Given the description of an element on the screen output the (x, y) to click on. 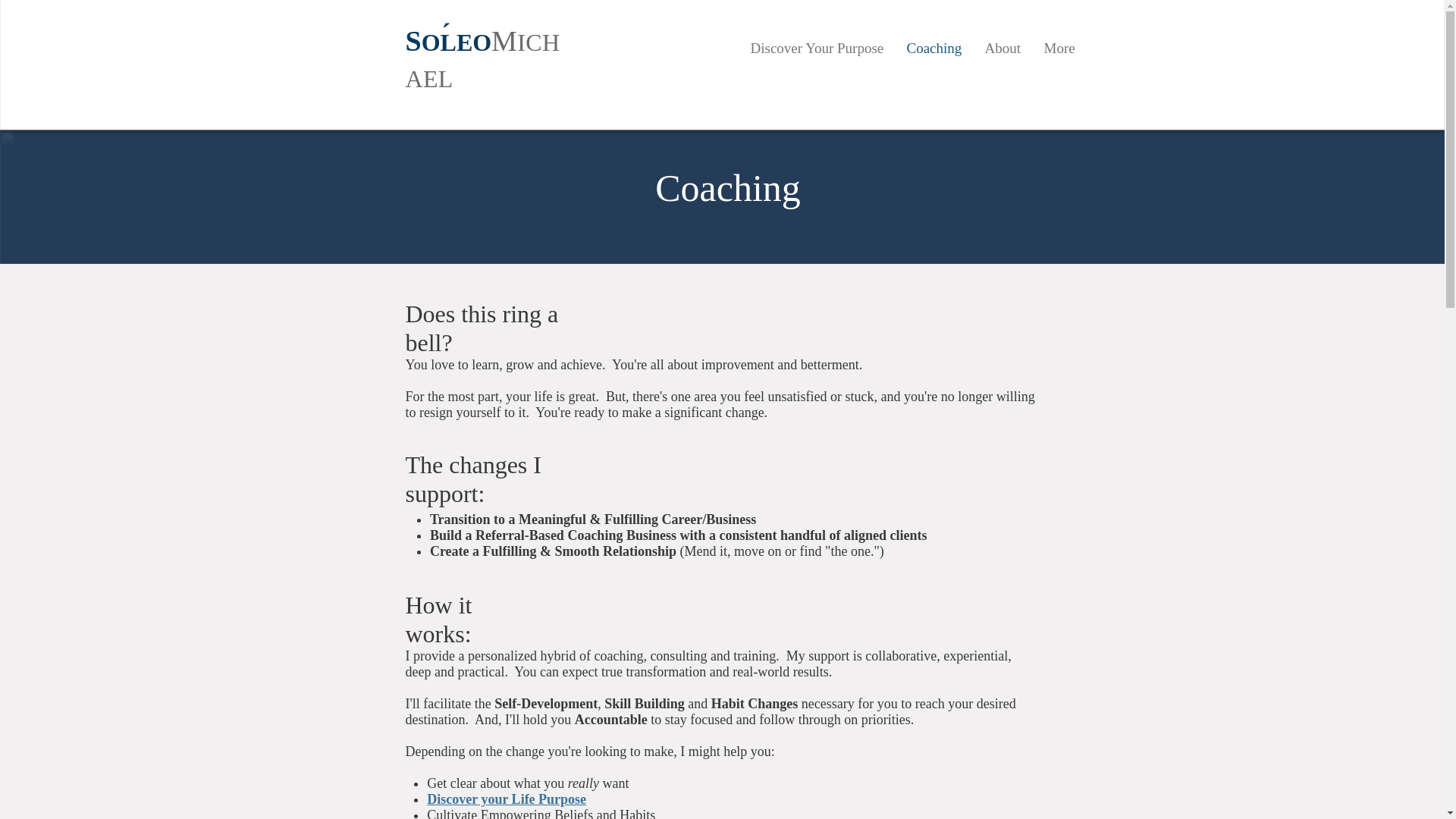
Discover your Life Purpose (506, 798)
SOLEOMICHAEL (481, 58)
About (1003, 47)
Coaching (933, 47)
Discover Your Purpose (816, 47)
